Given the description of an element on the screen output the (x, y) to click on. 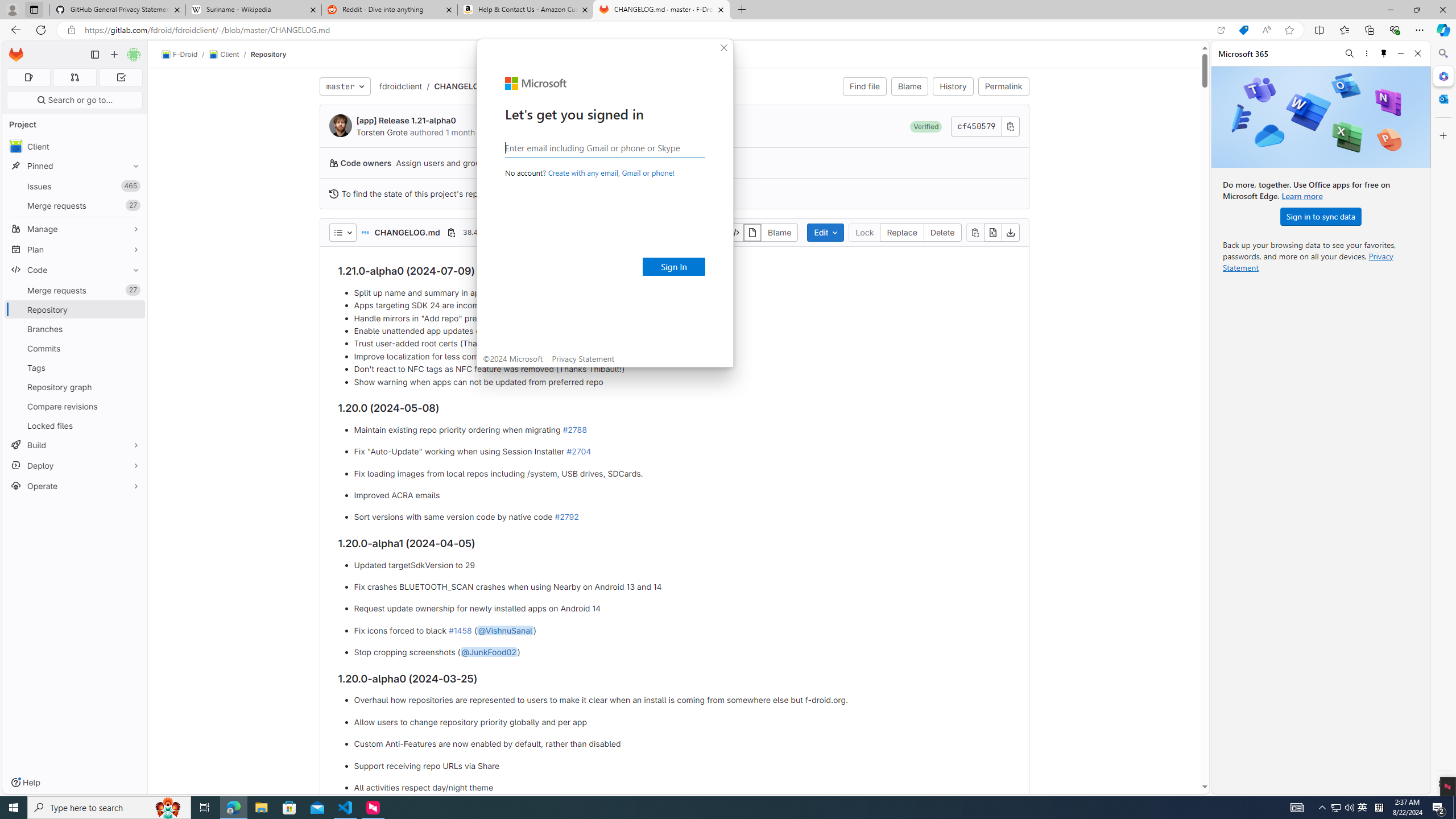
Tray Input Indicator - Chinese (Simplified, China) (1378, 807)
Fix "Auto-Update" working when using Session Installer #2704 (681, 451)
@JunkFood02 (488, 652)
To-Do list 0 (120, 76)
Open in app (1220, 29)
#2788 (574, 429)
Primary navigation sidebar (94, 54)
Enter email including Gmail or phone or Skype (604, 147)
#1458 (459, 629)
Repository (268, 53)
Find file (864, 85)
Updated targetSdkVersion to 29 (681, 564)
fdroidclient (400, 85)
